Given the description of an element on the screen output the (x, y) to click on. 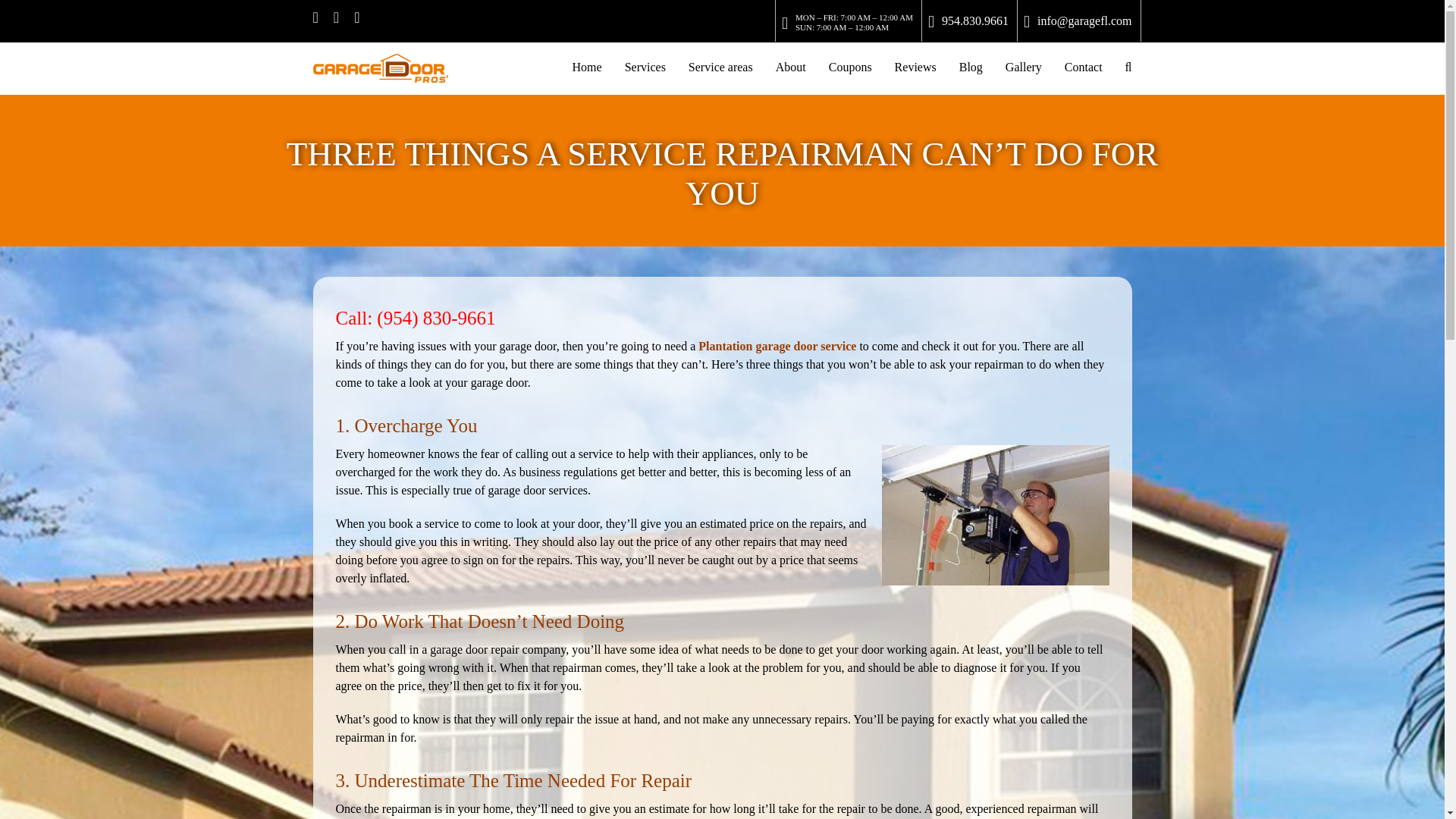
Service areas (720, 66)
954.830.9661 (968, 20)
